Given the description of an element on the screen output the (x, y) to click on. 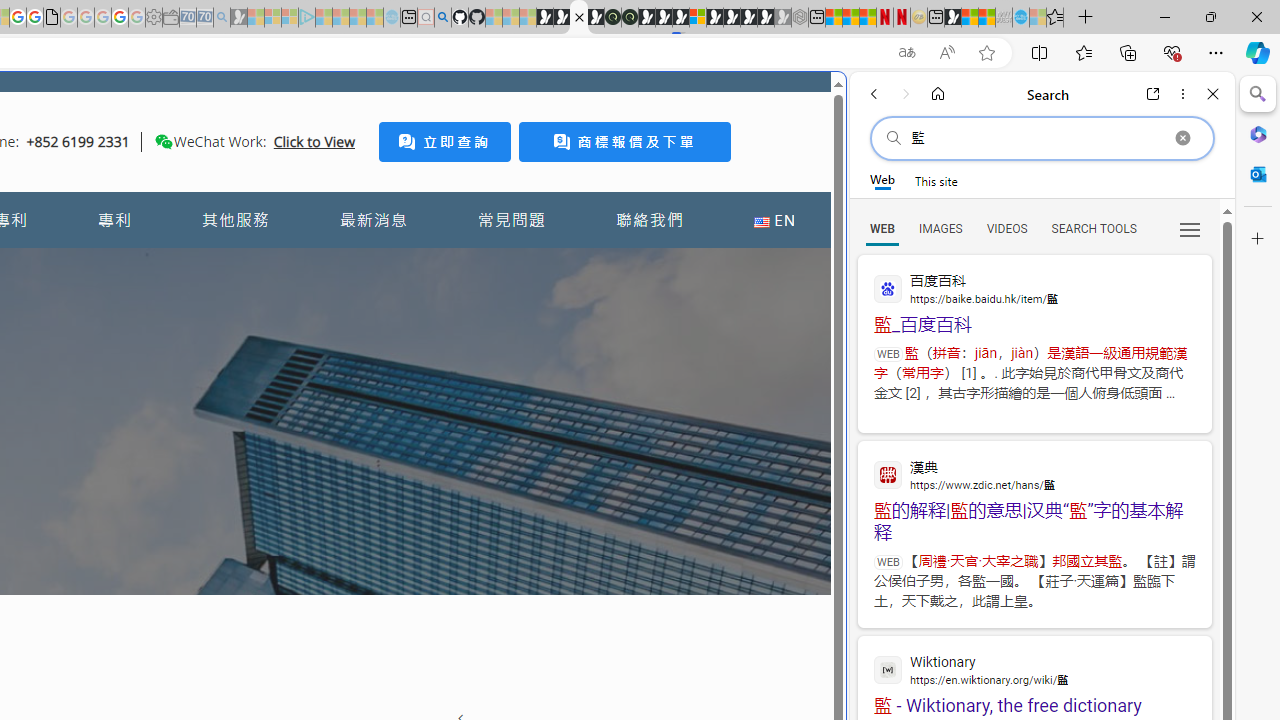
EN (774, 220)
